Given the description of an element on the screen output the (x, y) to click on. 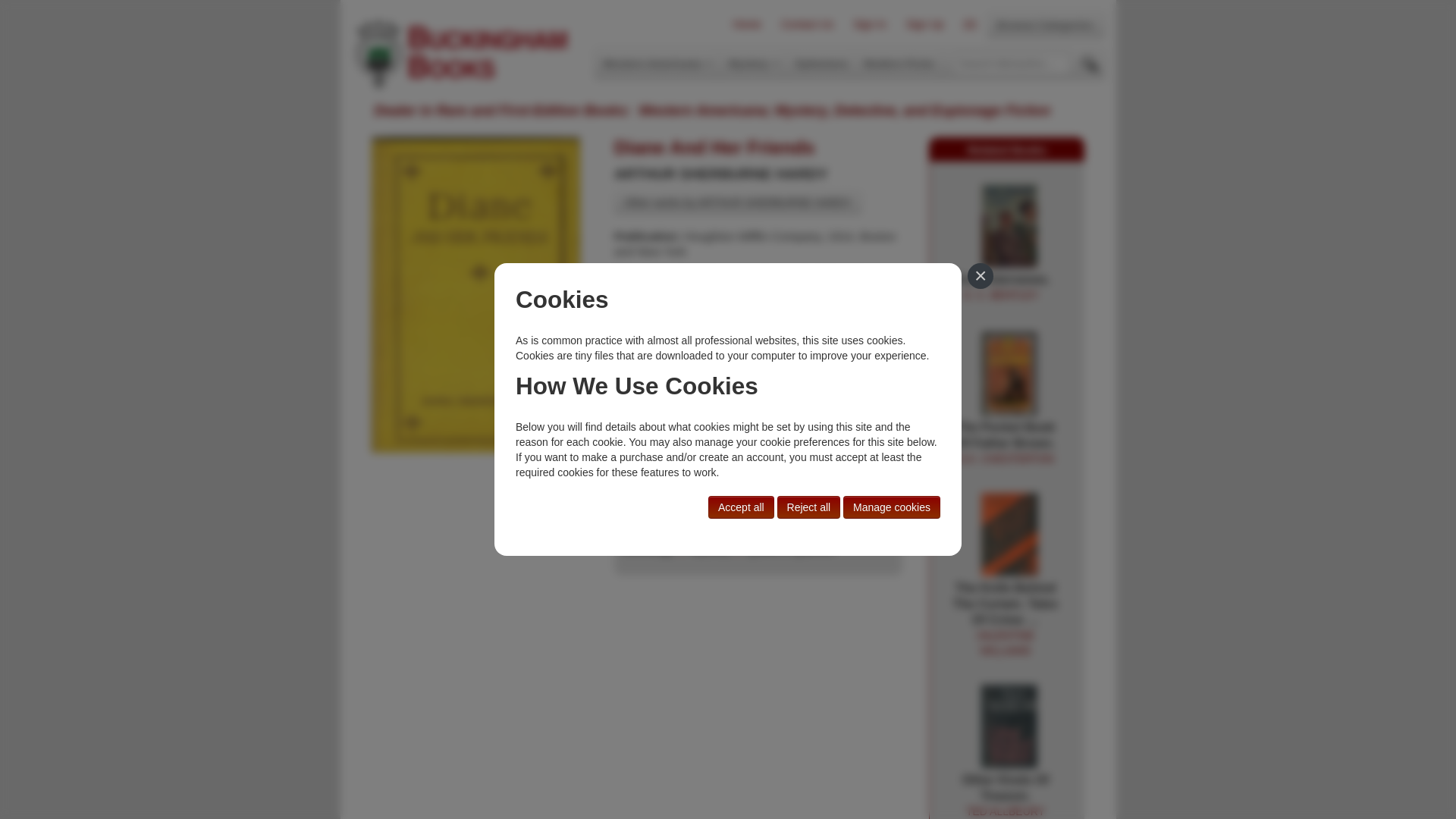
Add to Cart (865, 467)
The Pocket Book Of Father Brown. G.K. CHESTERTON (1008, 374)
Sign Up (924, 24)
The Pocket Book Of Father Brown. (1005, 443)
Ephemera (1005, 443)
Queen's Quorum (821, 63)
Zero items in shopping cart (1000, 287)
Home (790, 548)
Browse Categories (970, 24)
Western Americana (746, 24)
Anthology (1045, 24)
